Given the description of an element on the screen output the (x, y) to click on. 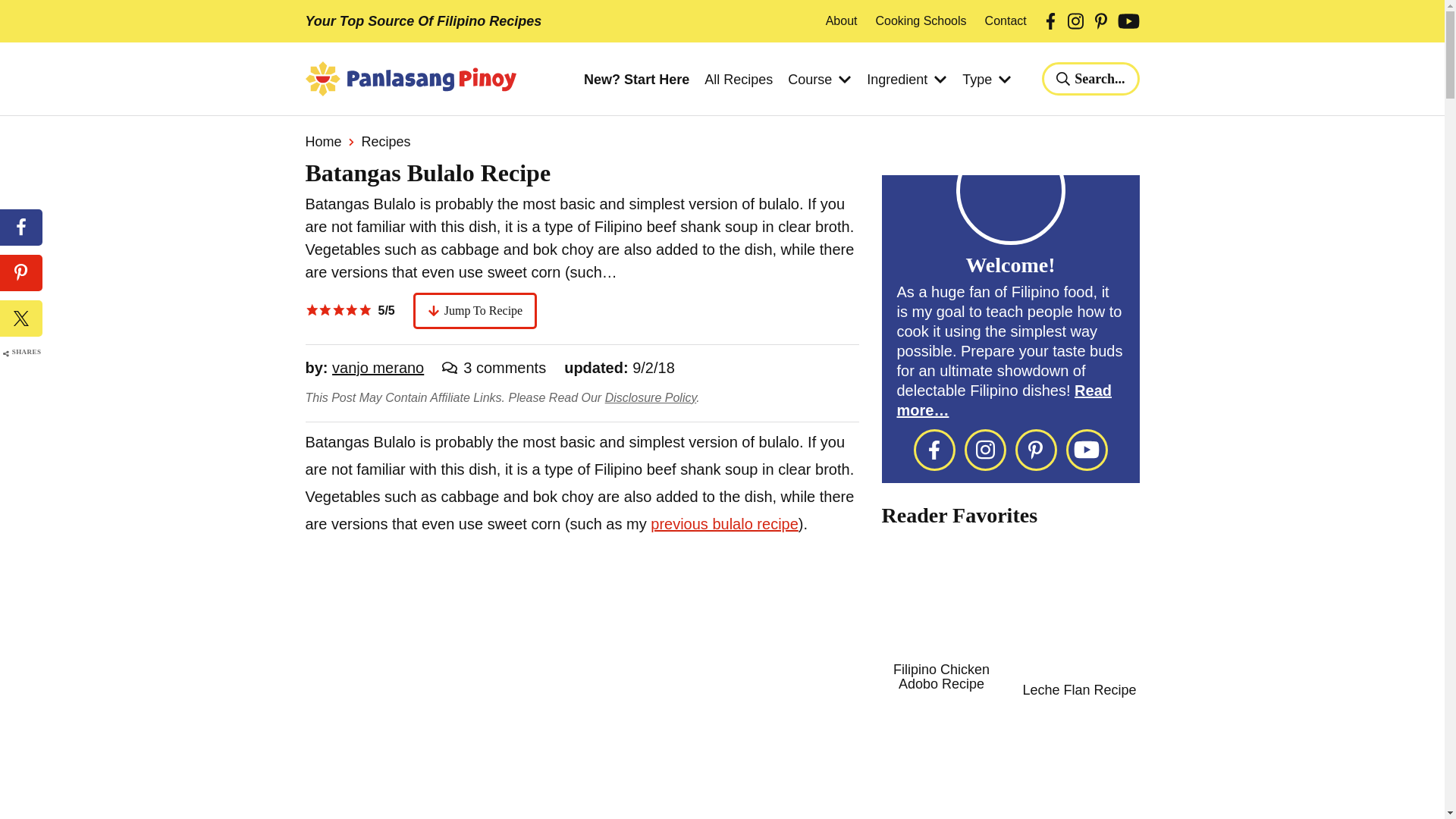
Share on Pinterest (21, 272)
Home (322, 141)
All Recipes (738, 80)
New? Start Here (635, 80)
Panlasang Pinoy (409, 78)
Jump To Recipe (475, 310)
Share on Facebook (21, 227)
YouTube (1129, 21)
About (841, 21)
